Given the description of an element on the screen output the (x, y) to click on. 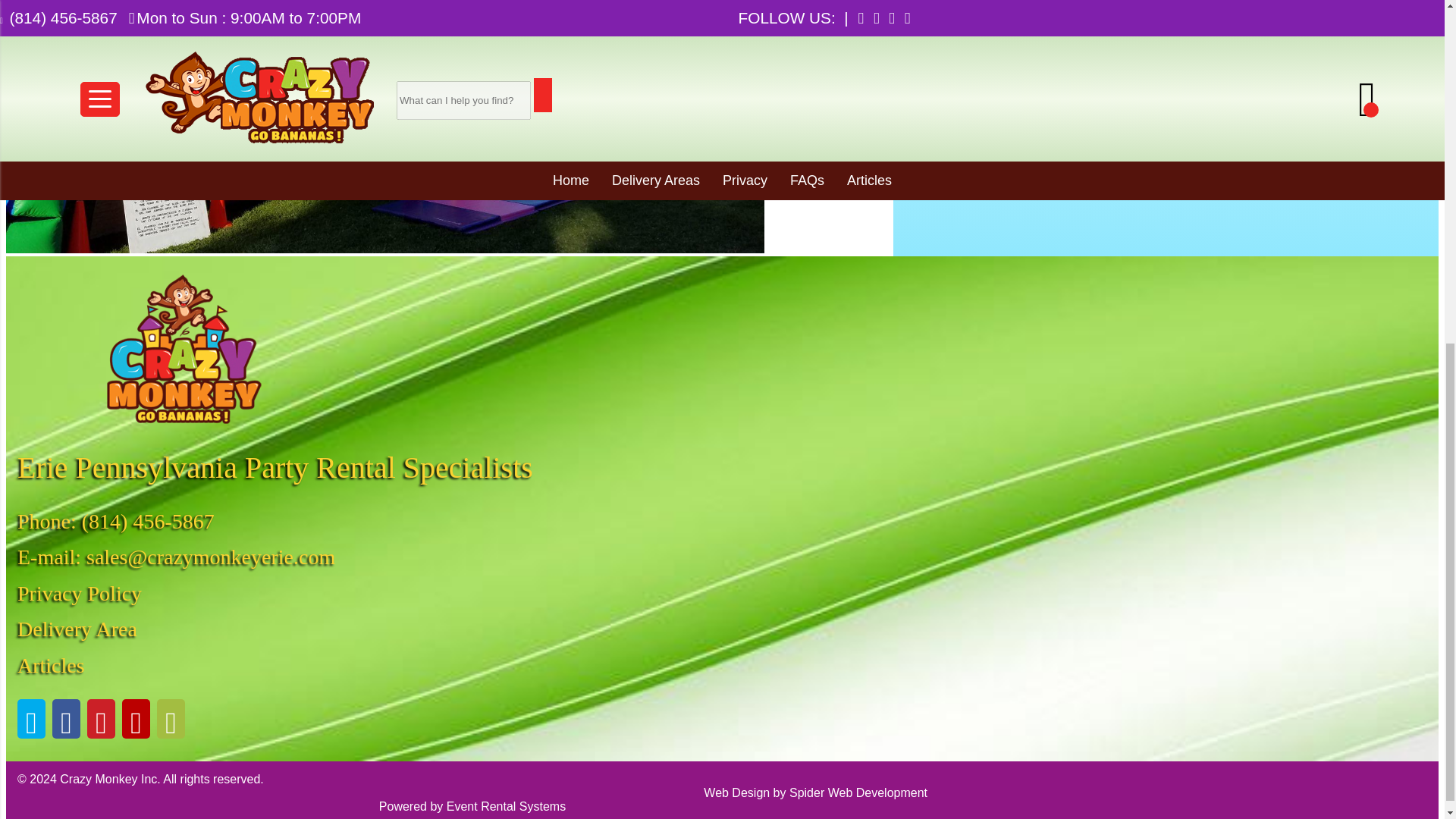
Delivery Area (76, 628)
Spider Web Development (858, 792)
Event Rental Systems (506, 806)
Privacy Policy (79, 593)
Articles (50, 665)
